Given the description of an element on the screen output the (x, y) to click on. 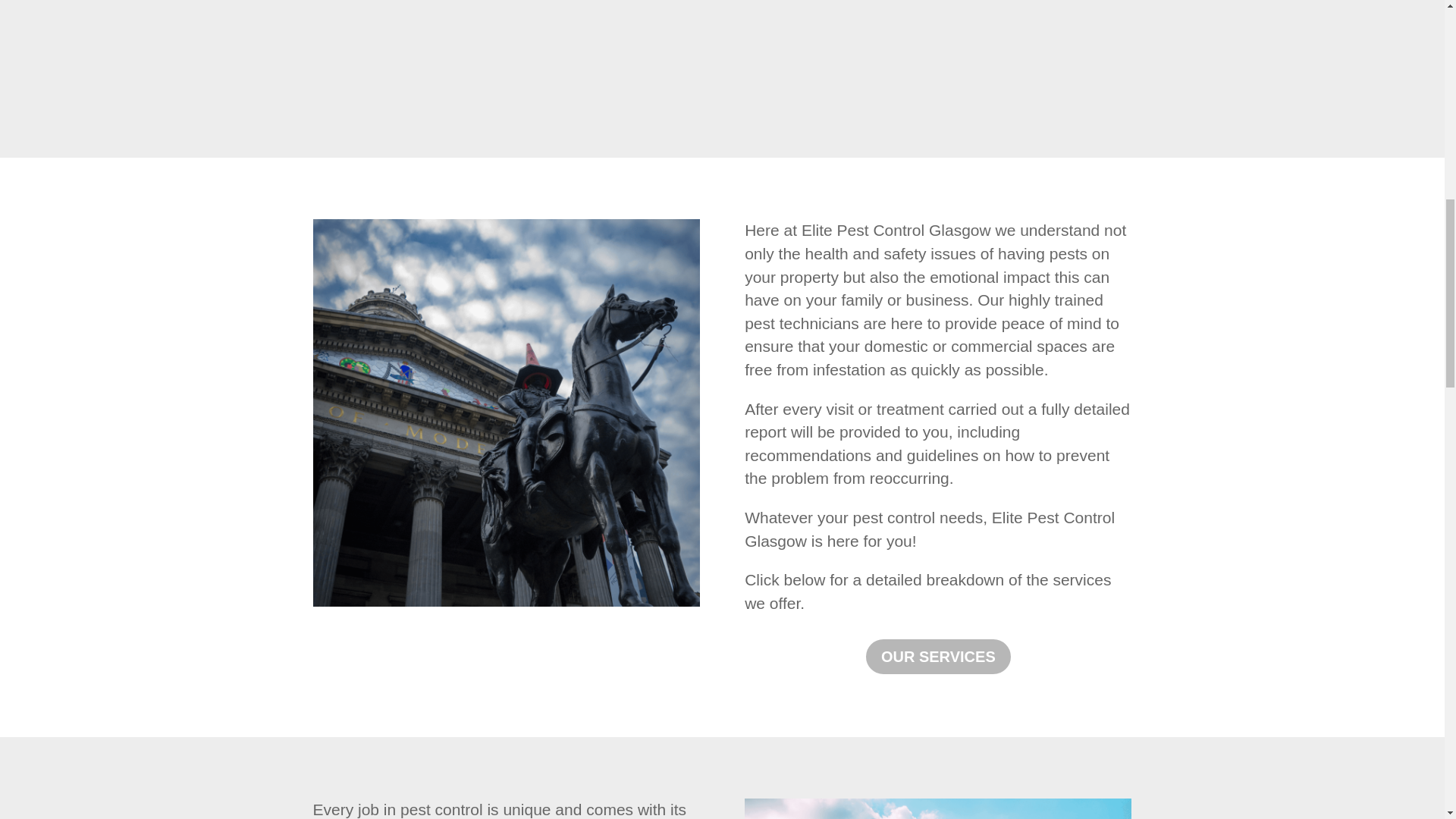
OUR SERVICES (937, 656)
9 (937, 808)
